Given the description of an element on the screen output the (x, y) to click on. 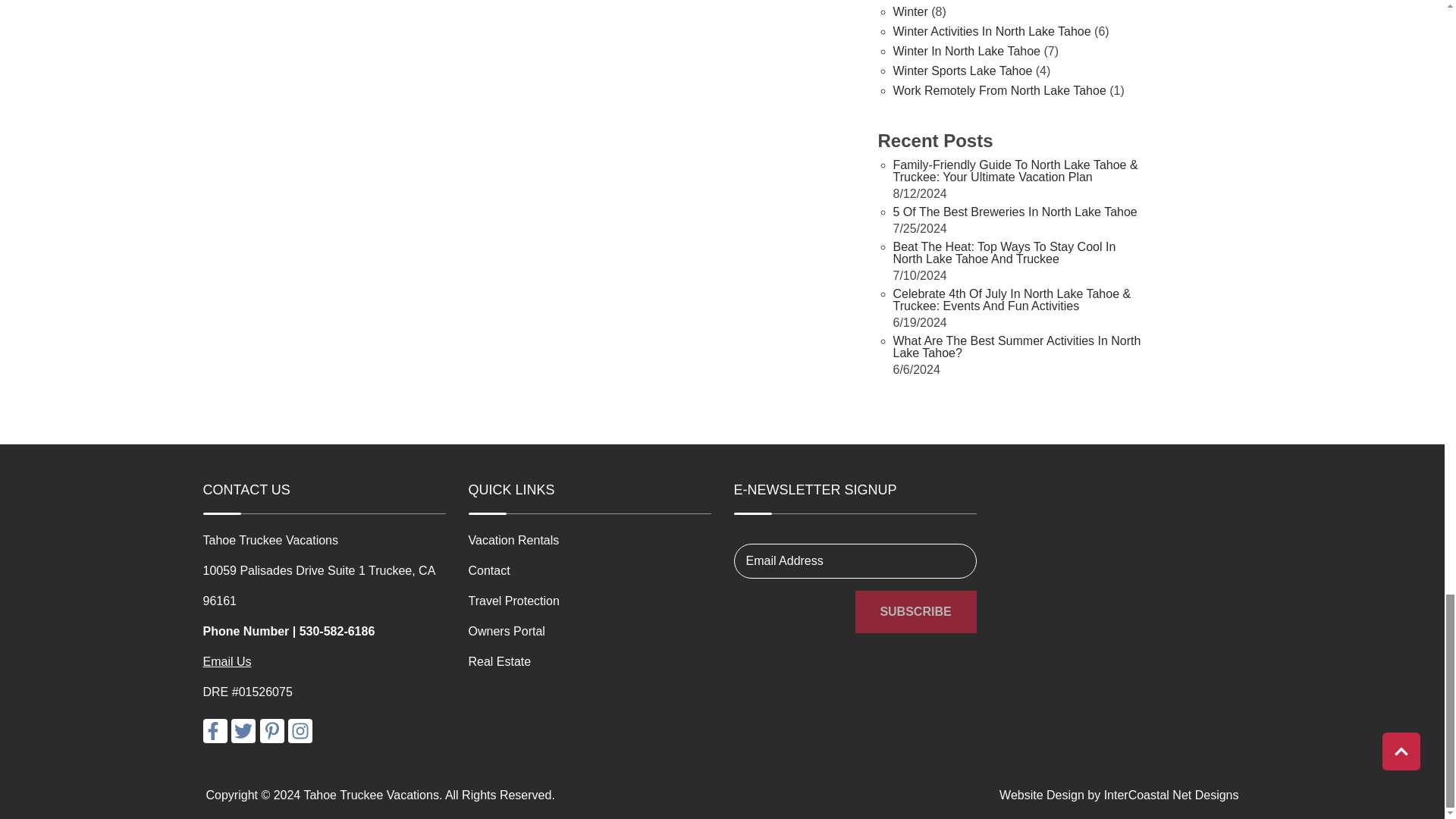
pinterest (271, 730)
instagram (300, 730)
facebook (215, 730)
twitter (243, 730)
